Given the description of an element on the screen output the (x, y) to click on. 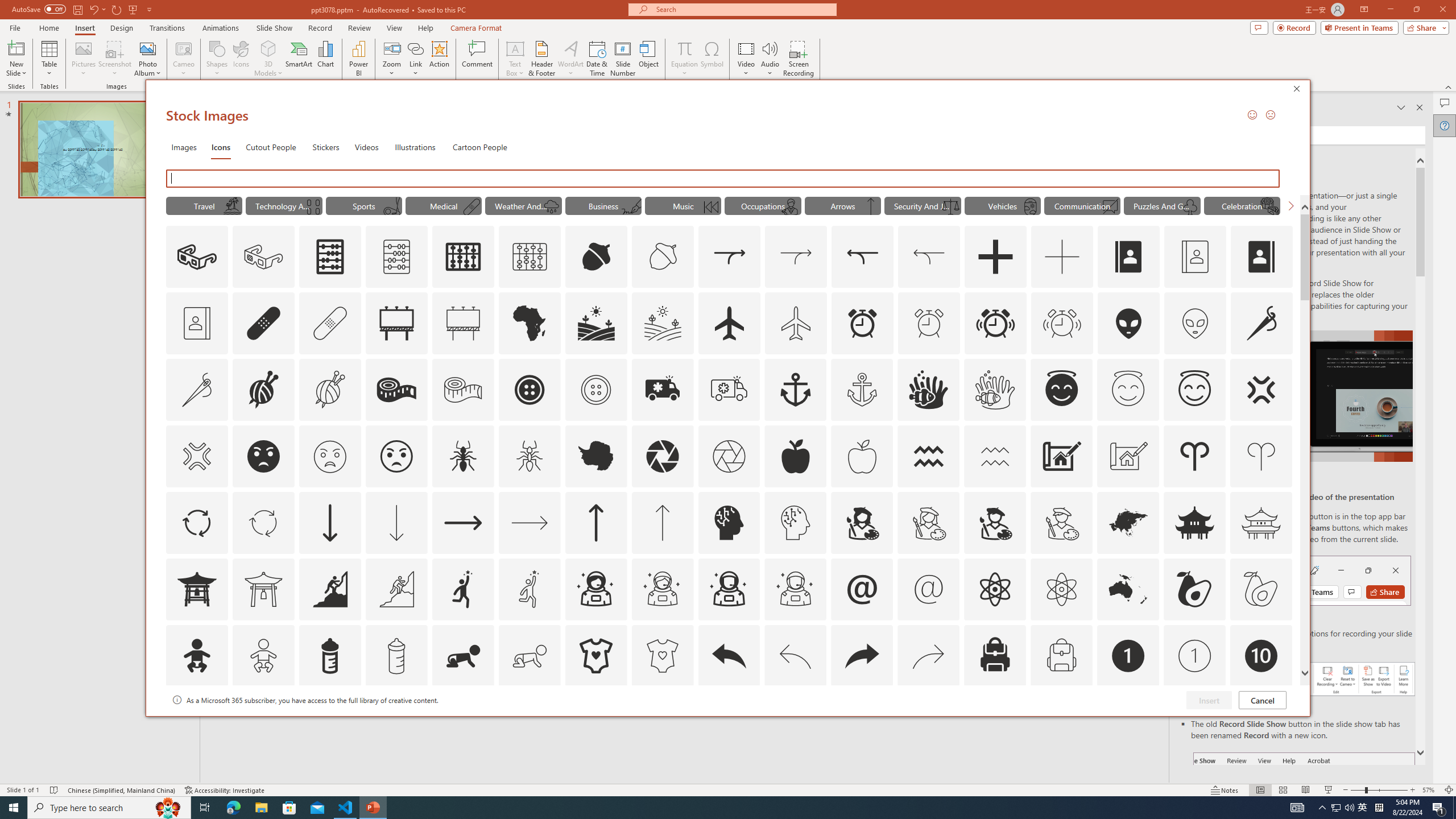
AutomationID: Icons_Badge1 (1128, 655)
Power BI (358, 58)
"Occupations" Icons. (762, 205)
AutomationID: Icons_ArtificialIntelligence_M (795, 522)
AutomationID: Icons_AngryFace (263, 455)
